Given the description of an element on the screen output the (x, y) to click on. 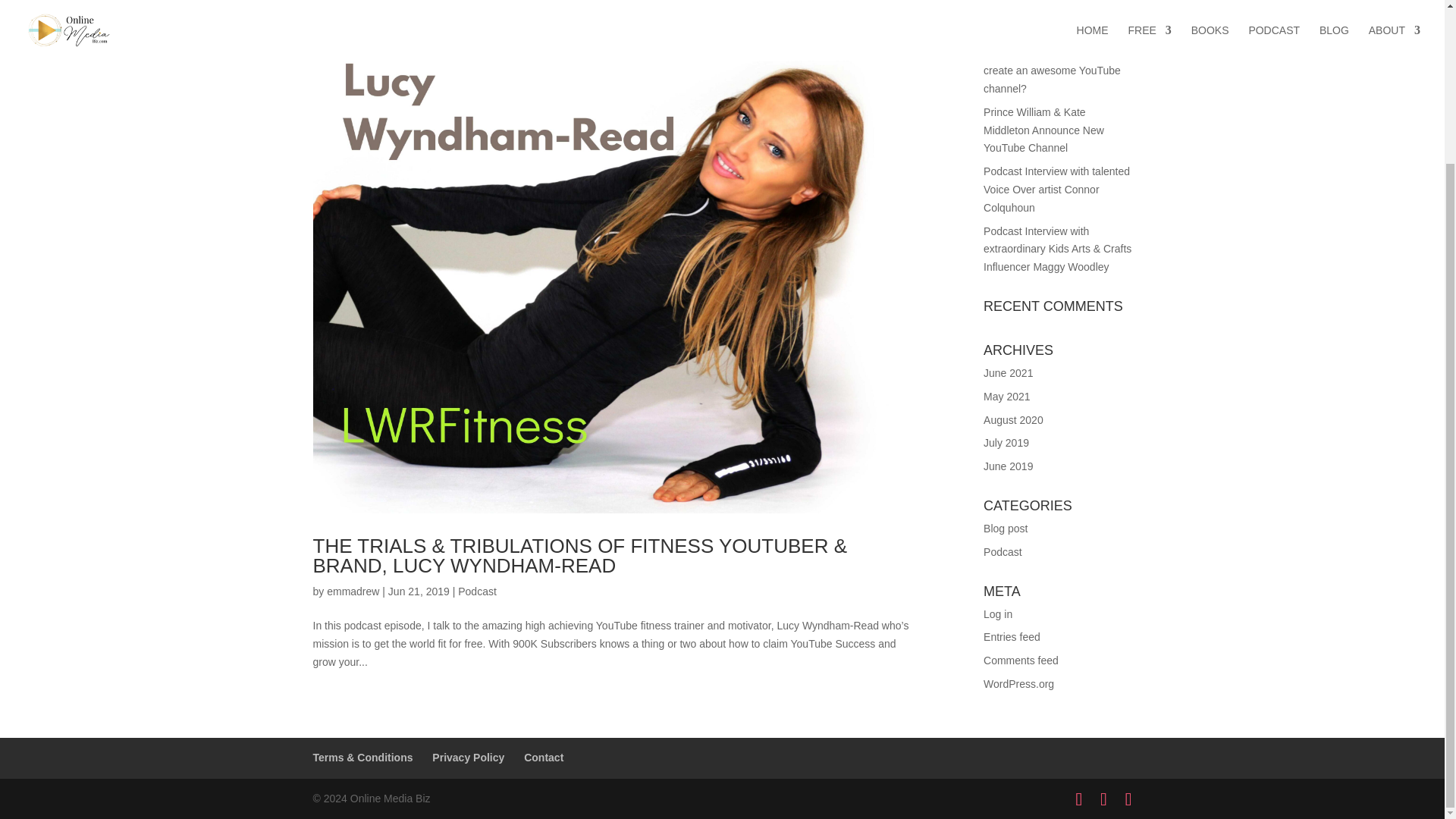
WordPress.org (1019, 684)
May 2021 (1006, 396)
August 2020 (1013, 419)
Log in (997, 613)
June 2021 (1008, 372)
Entries feed (1012, 636)
Posts by emmadrew (352, 591)
How you can help your kid create an awesome YouTube channel? (1052, 70)
Podcast (477, 591)
Comments feed (1021, 660)
Podcast (1003, 551)
June 2019 (1008, 466)
emmadrew (352, 591)
July 2019 (1006, 442)
